Given the description of an element on the screen output the (x, y) to click on. 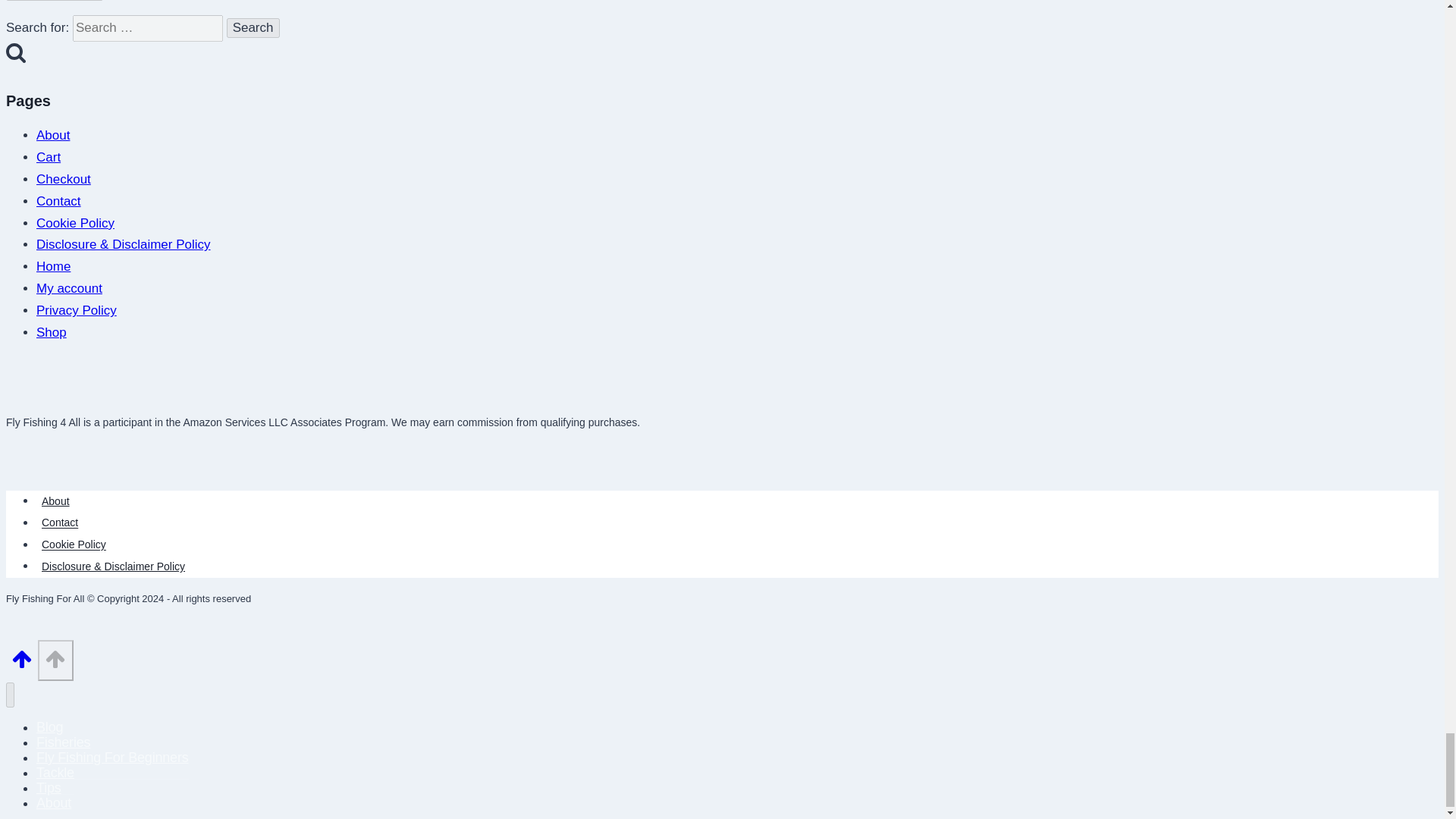
Scroll to top (21, 663)
Search (253, 27)
Scroll to top (55, 658)
Search (15, 52)
Scroll to top (21, 658)
Search (253, 27)
